Given the description of an element on the screen output the (x, y) to click on. 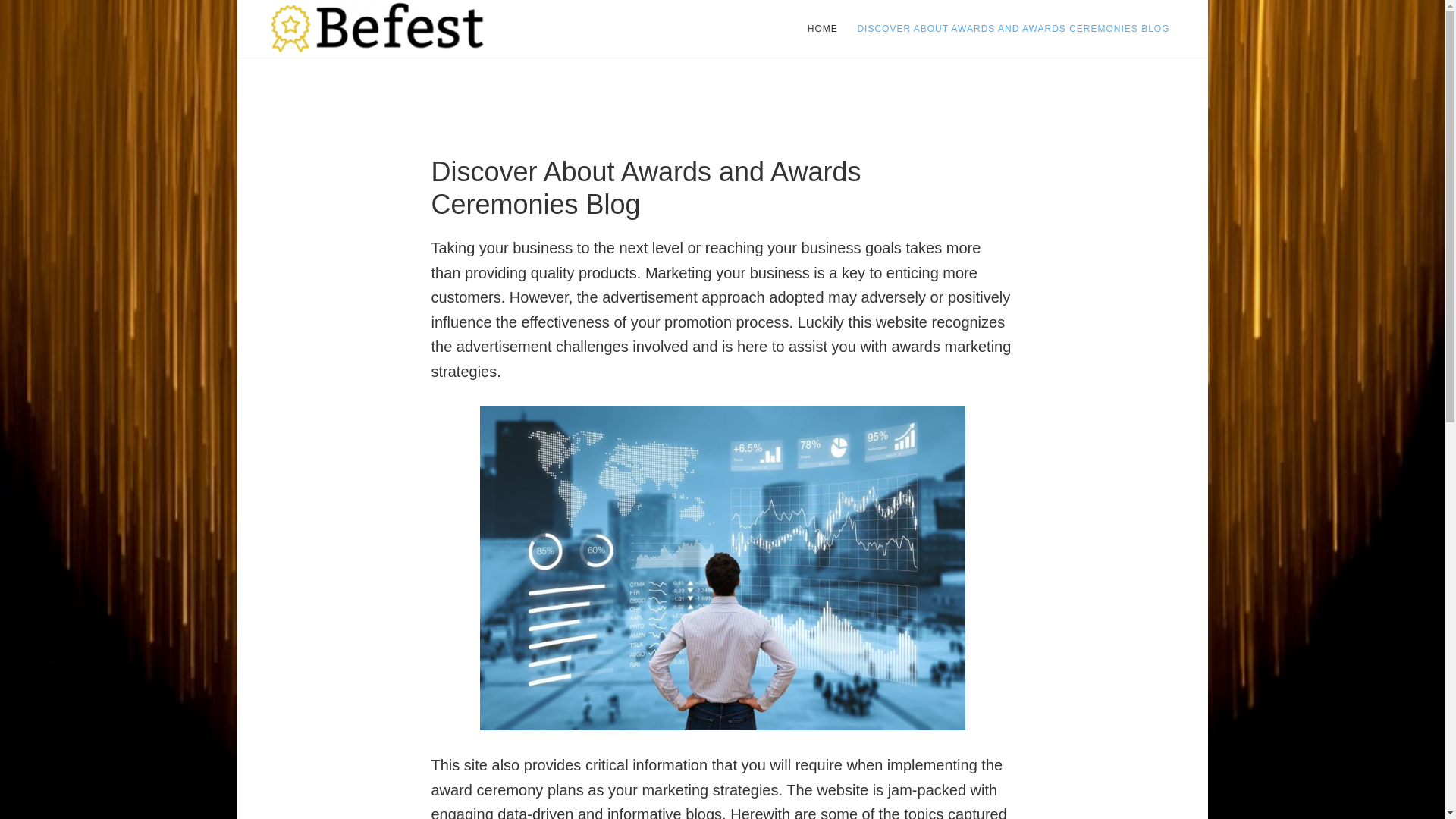
DISCOVER ABOUT AWARDS AND AWARDS CEREMONIES BLOG (1012, 28)
HOME (822, 28)
BEFEST.COM.AU (380, 28)
